Given the description of an element on the screen output the (x, y) to click on. 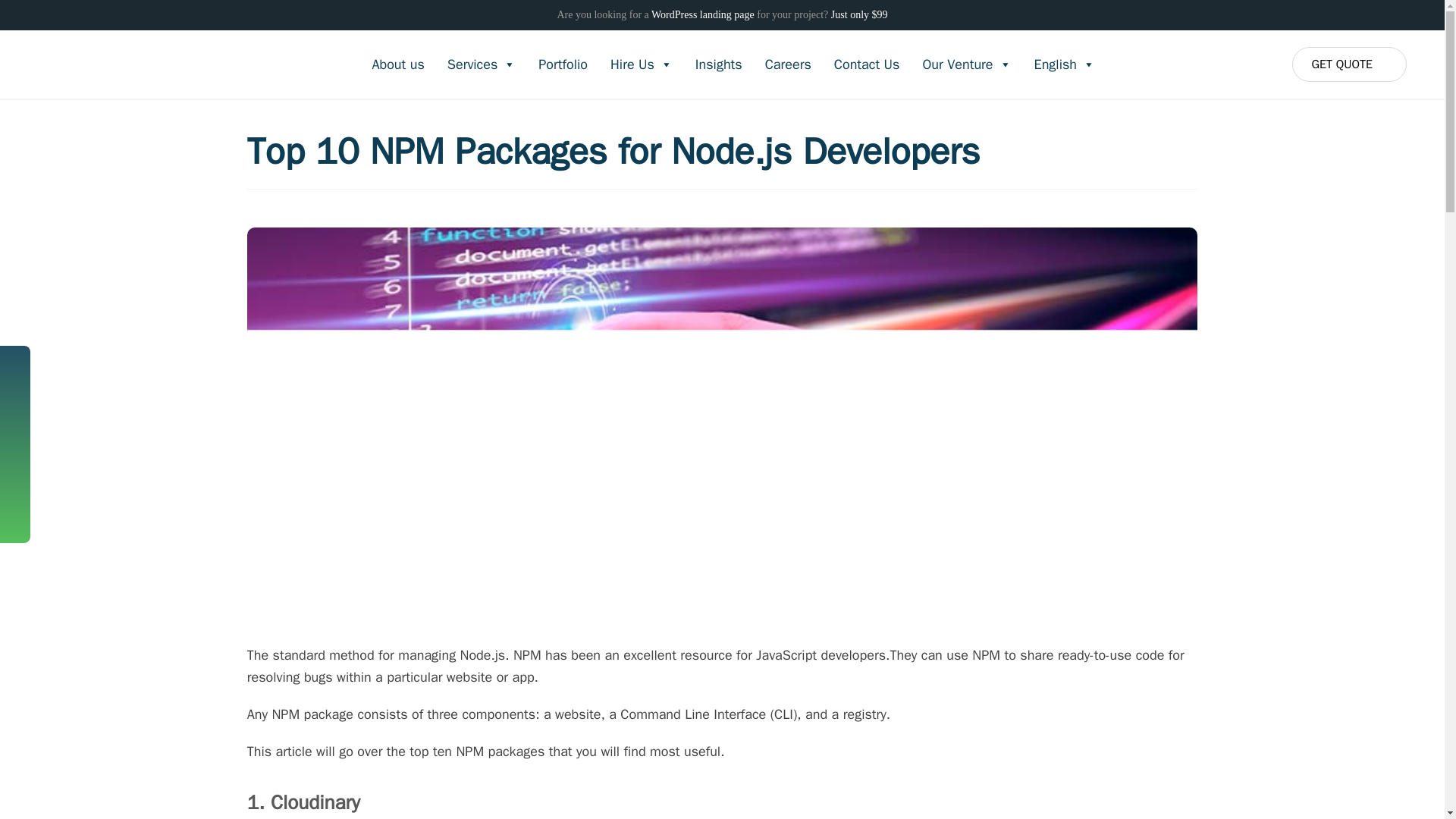
Services (481, 64)
About us (397, 64)
English (1064, 64)
